Given the description of an element on the screen output the (x, y) to click on. 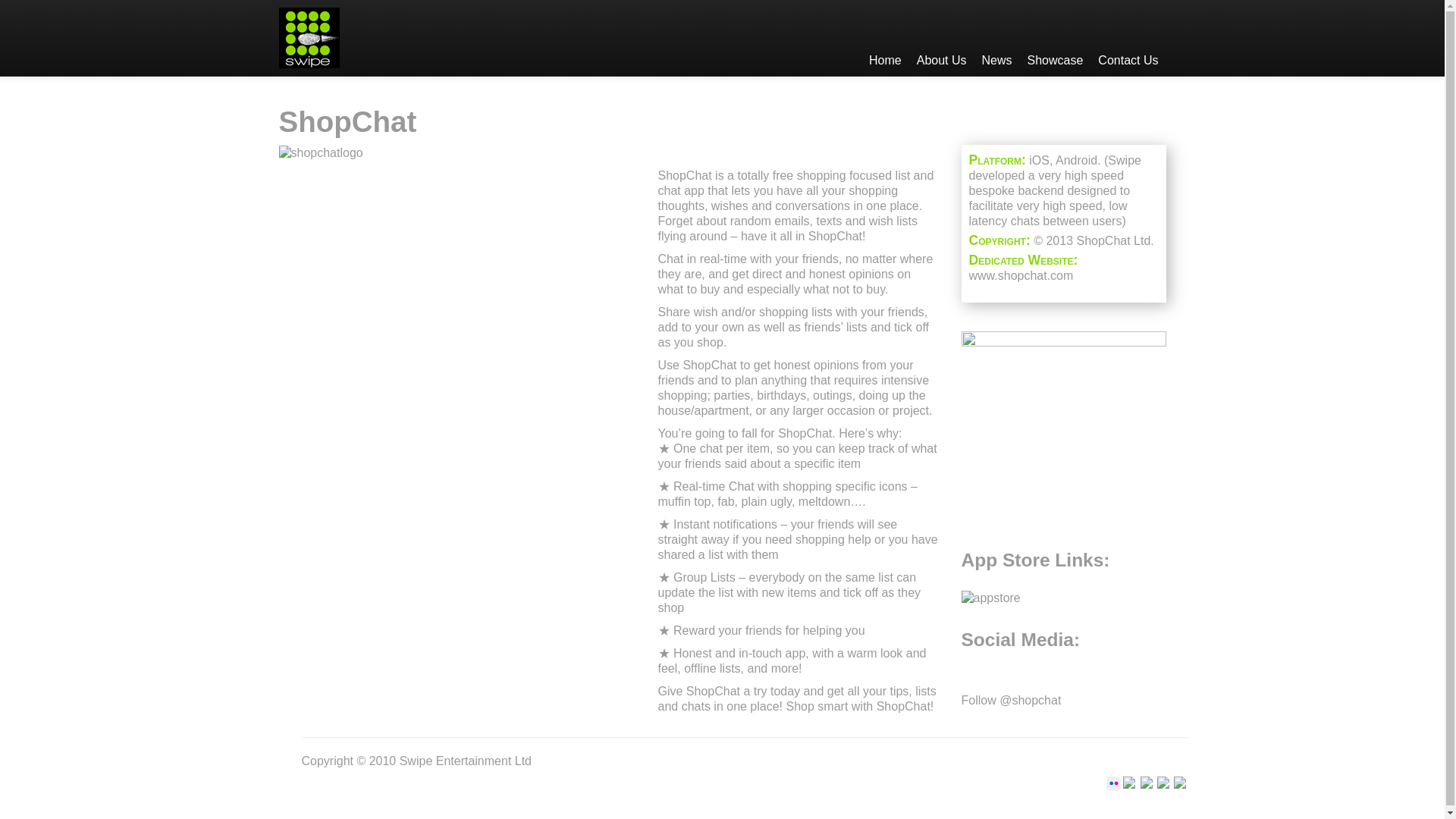
www.shopchat.com (1021, 275)
dropdown (1055, 38)
Showcase (1055, 38)
Contact Us (1128, 38)
